Given the description of an element on the screen output the (x, y) to click on. 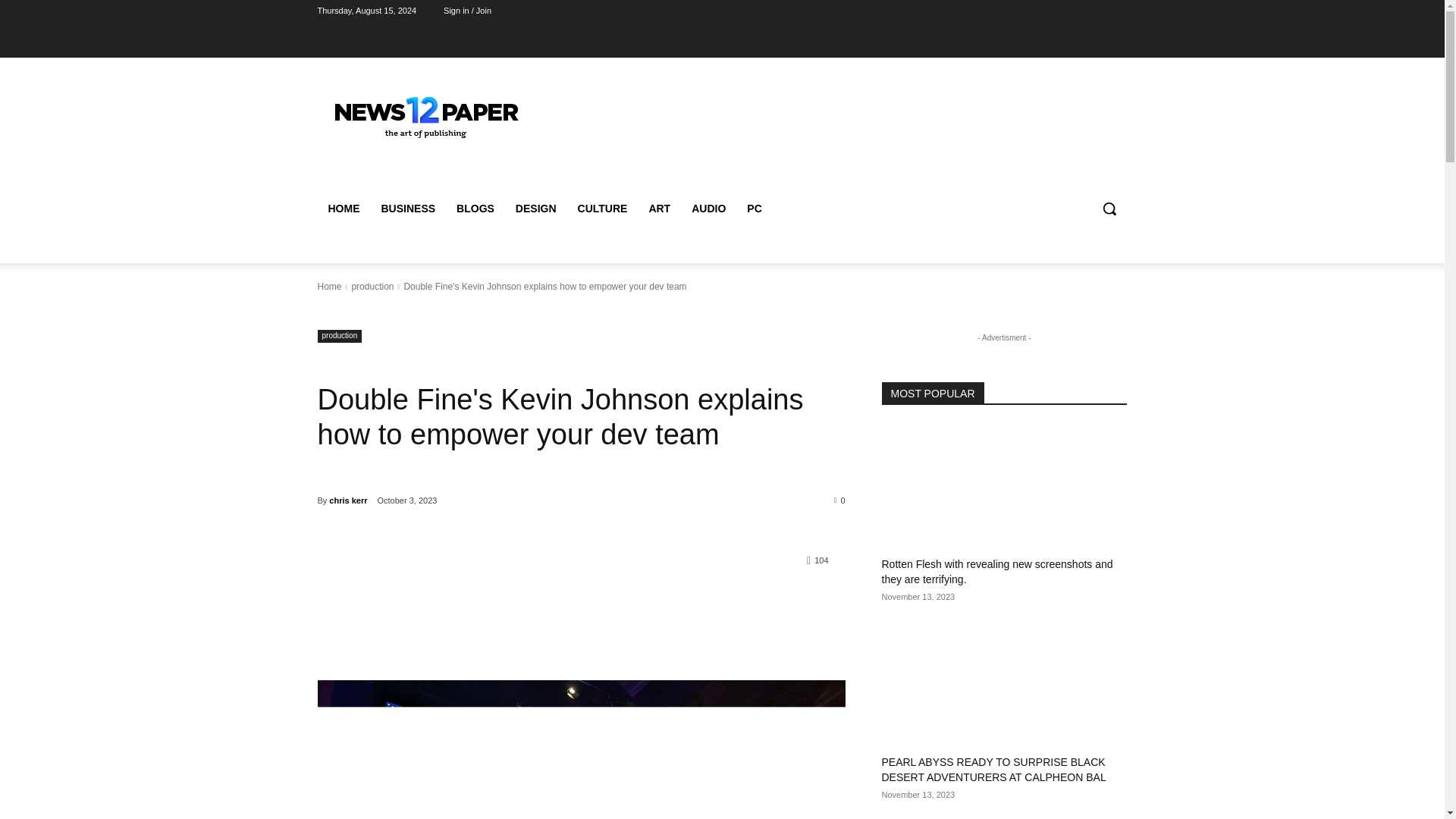
chris kerr (347, 499)
HOME (343, 208)
production (371, 286)
PC (753, 208)
View all posts in production (371, 286)
0 (839, 499)
DESIGN (536, 208)
AUDIO (708, 208)
BUSINESS (407, 208)
